Given the description of an element on the screen output the (x, y) to click on. 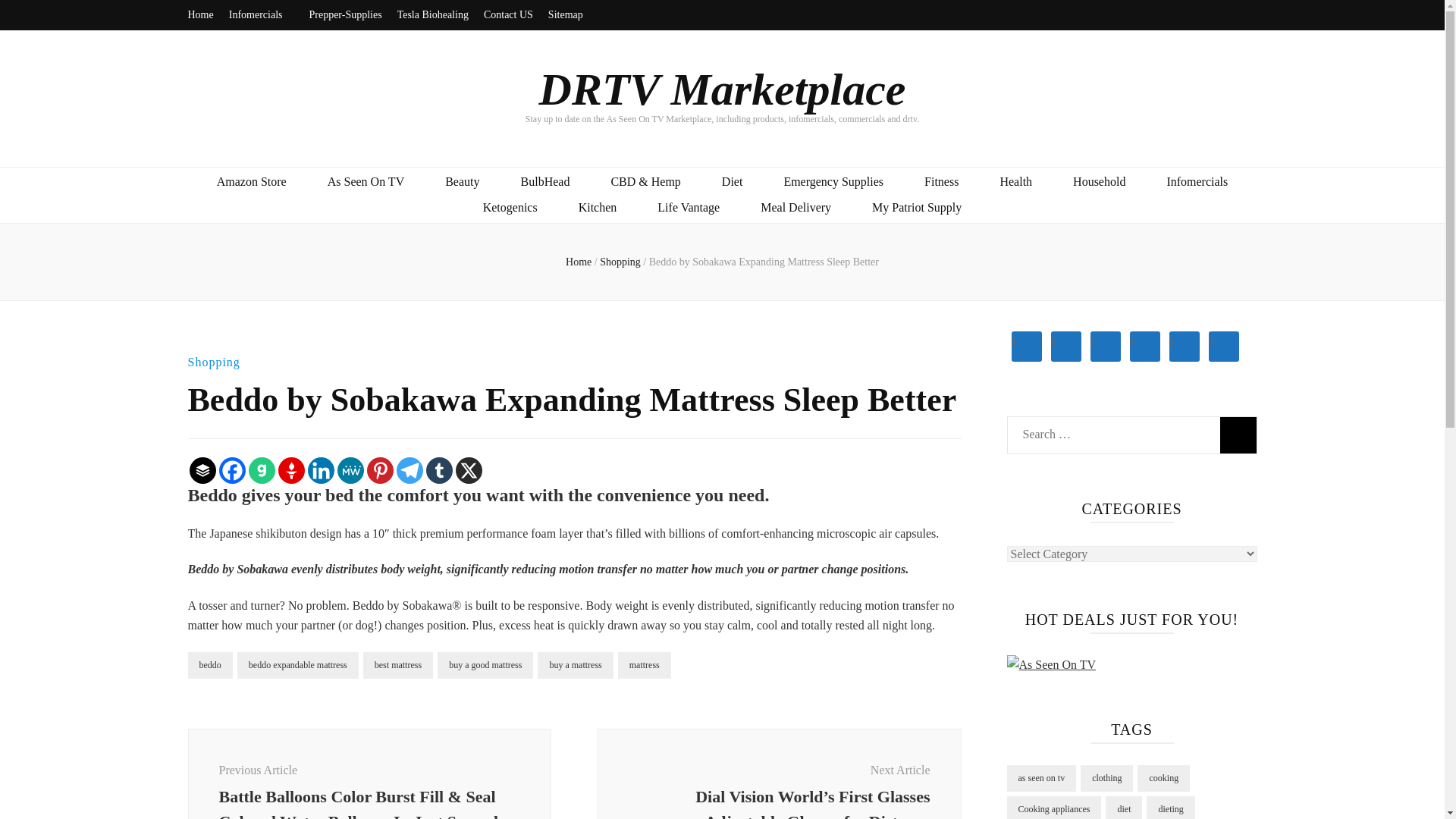
Buffer (202, 470)
MeWe (349, 470)
Search (1237, 434)
Tumblr (439, 470)
Amazon Store (251, 181)
Contact US (507, 15)
Ketogenics (510, 208)
Sitemap (571, 15)
Tesla Biohealing (432, 15)
Diet (732, 181)
DRTV Marketplace (721, 89)
Kitchen (597, 208)
Fitness (941, 181)
Search (1237, 434)
X (467, 470)
